Given the description of an element on the screen output the (x, y) to click on. 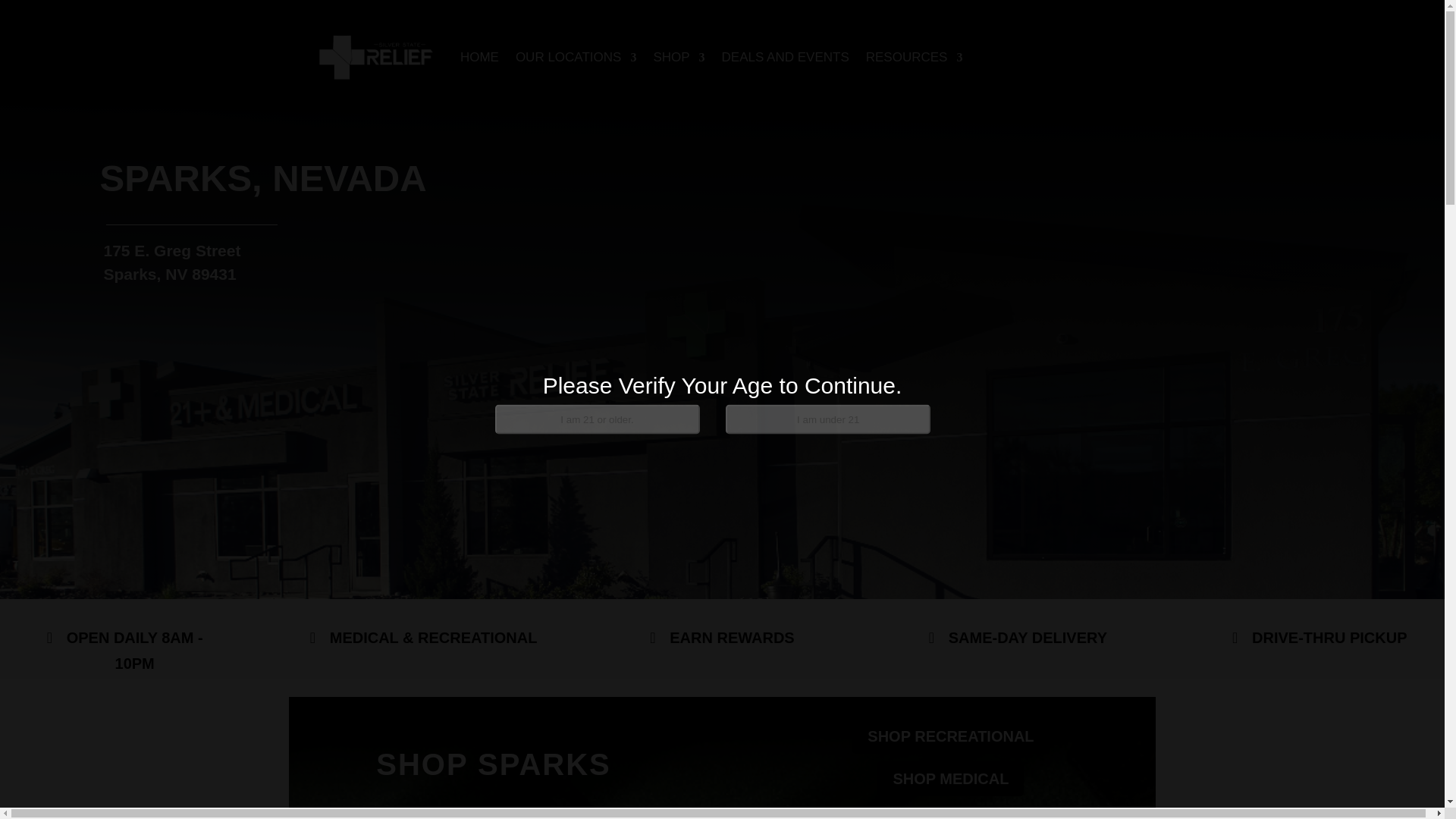
OUR LOCATIONS (575, 57)
I am under 21 (827, 419)
SHOP (678, 57)
RESOURCES (914, 57)
I am 21 or older. (596, 419)
I am under 21 (827, 419)
DEALS AND EVENTS (785, 57)
I am 21 or older. (596, 419)
